Given the description of an element on the screen output the (x, y) to click on. 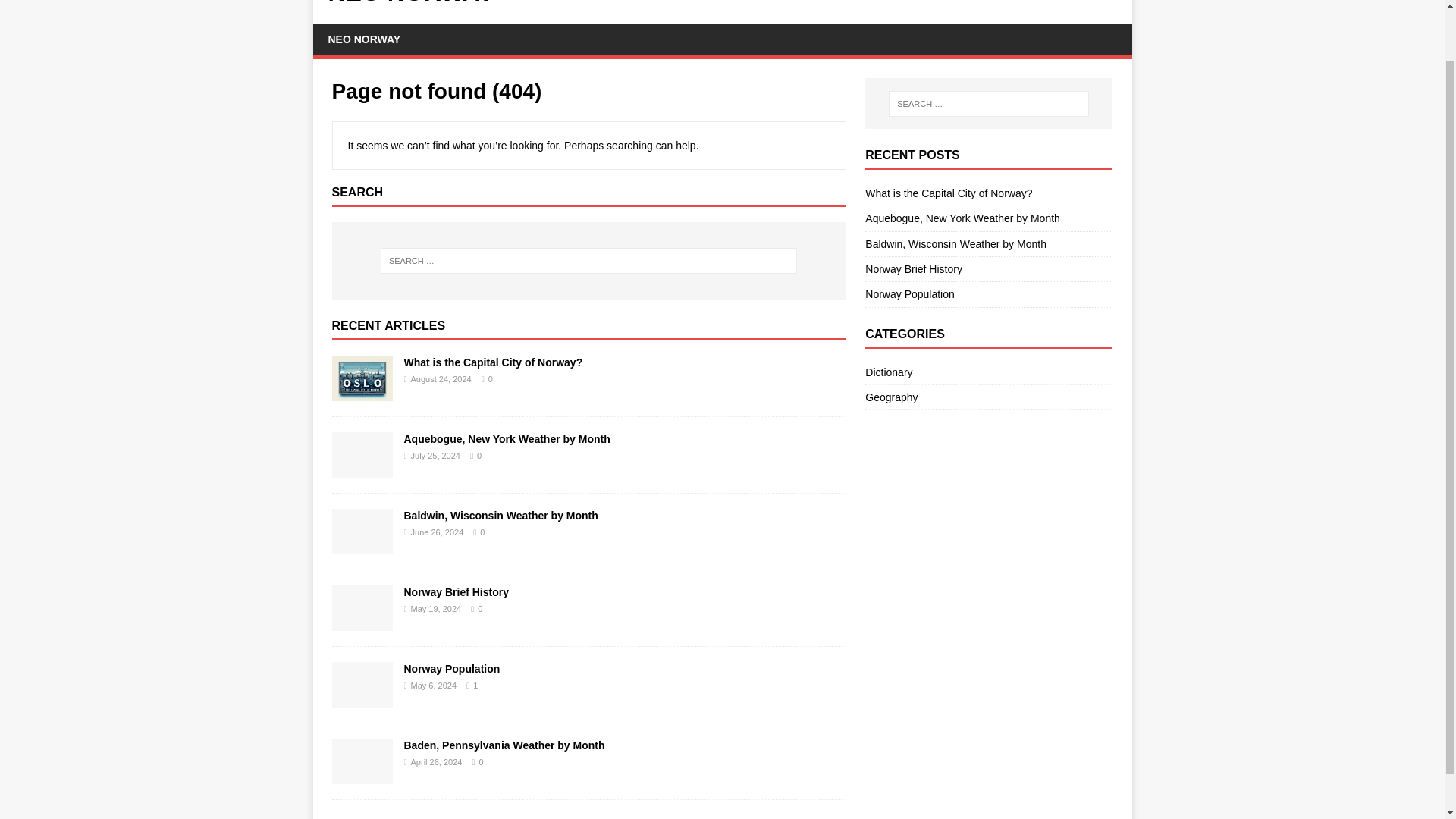
Aquebogue, New York Weather by Month (506, 439)
Norway Brief History (455, 592)
NEO NORWAY (363, 39)
Norway Brief History (362, 621)
Baldwin, Wisconsin Weather by Month (955, 244)
Norway Brief History (913, 268)
Geography (988, 396)
Baden, Pennsylvania Weather by Month (503, 745)
What is the Capital City of Norway? (362, 391)
Baden, Pennsylvania Weather by Month (362, 775)
